Given the description of an element on the screen output the (x, y) to click on. 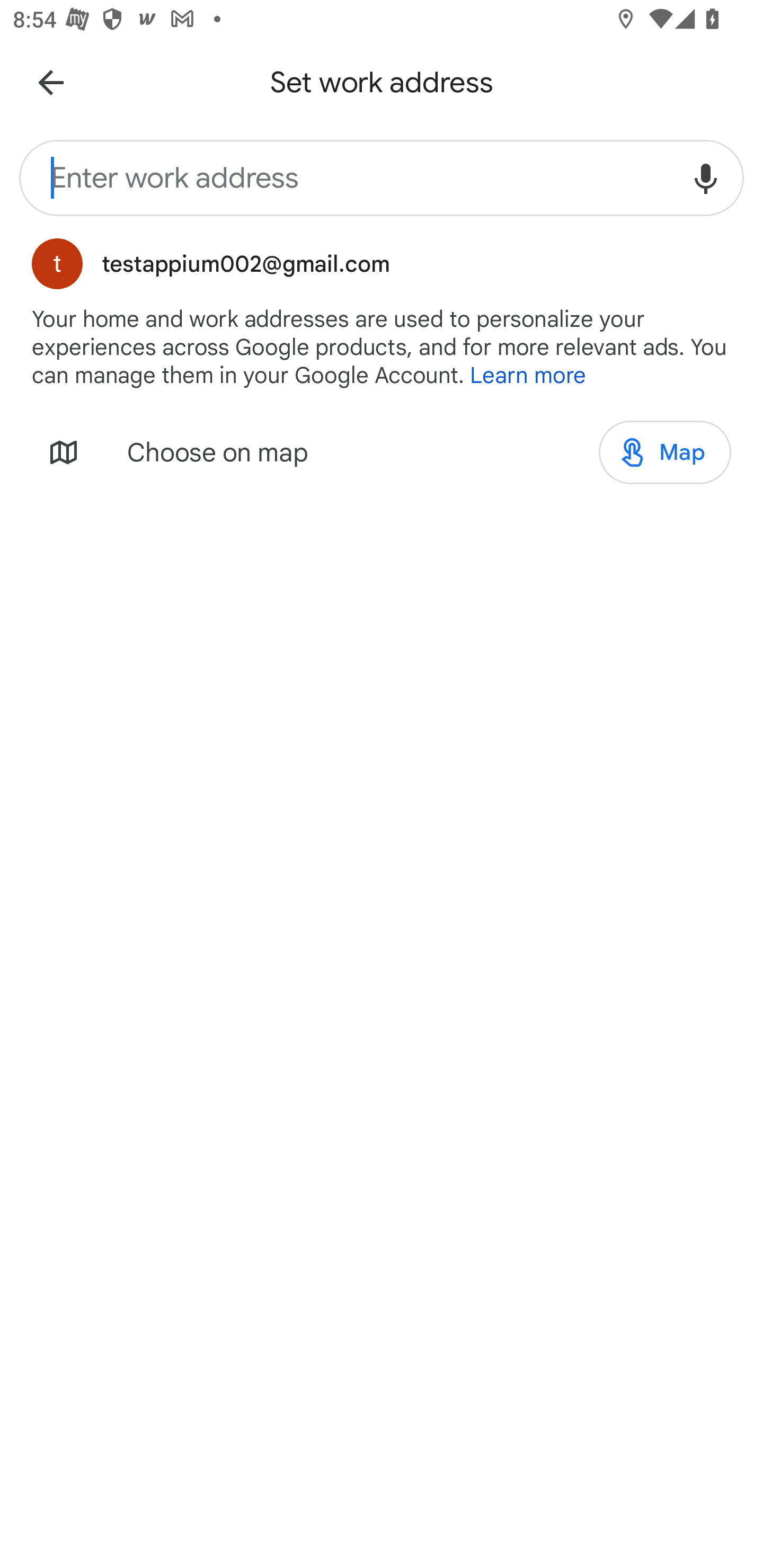
Navigate up (50, 81)
Enter work address (343, 177)
Voice search (705, 177)
Choose on map Map Map Map (381, 452)
Map Map Map (664, 451)
